Given the description of an element on the screen output the (x, y) to click on. 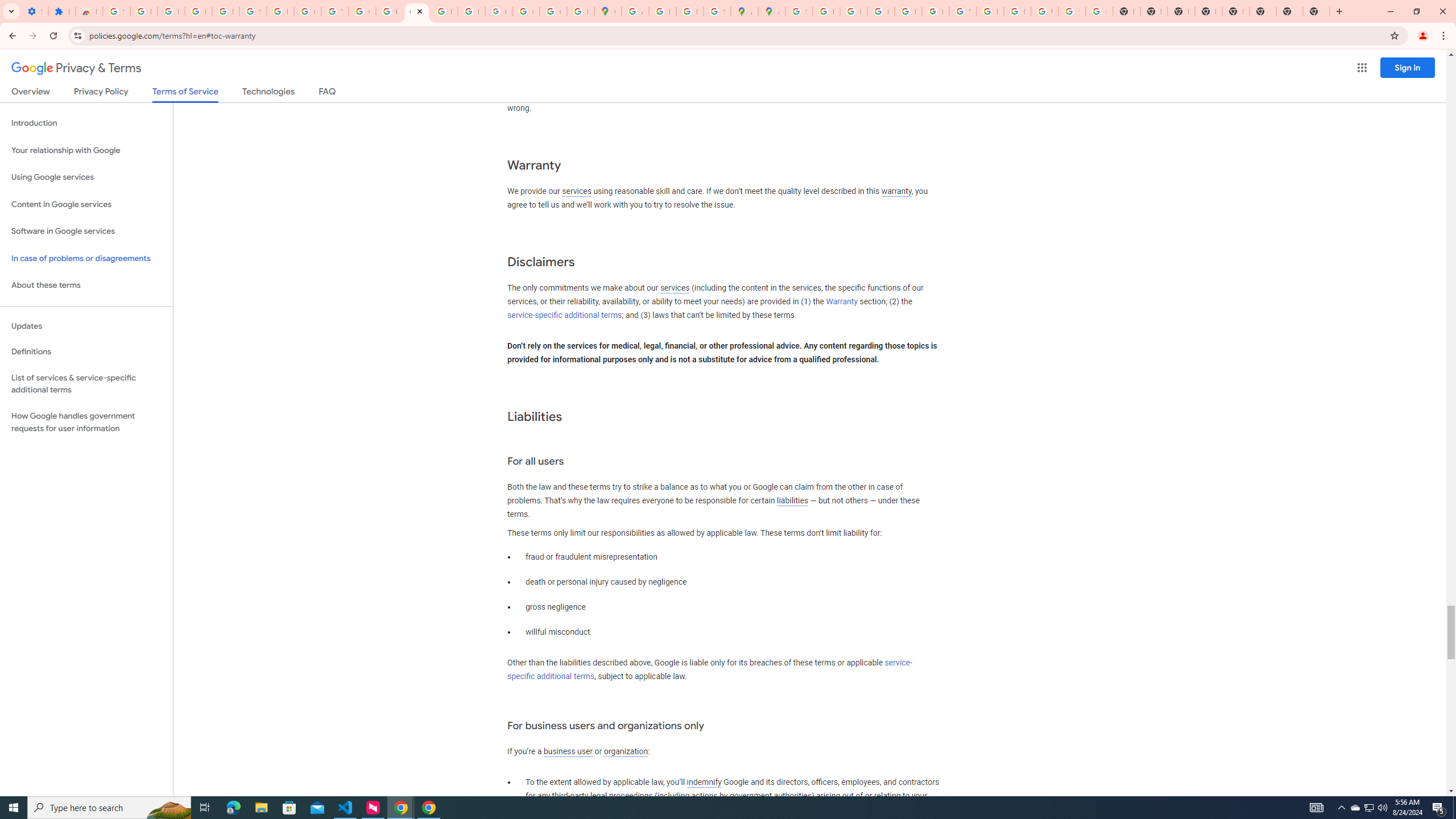
About these terms (86, 284)
List of services & service-specific additional terms (86, 383)
How Google handles government requests for user information (86, 422)
Software in Google services (86, 230)
https://scholar.google.com/ (389, 11)
organization (624, 751)
Learn how to find your photos - Google Photos Help (197, 11)
Safety in Our Products - Google Safety Center (716, 11)
